Given the description of an element on the screen output the (x, y) to click on. 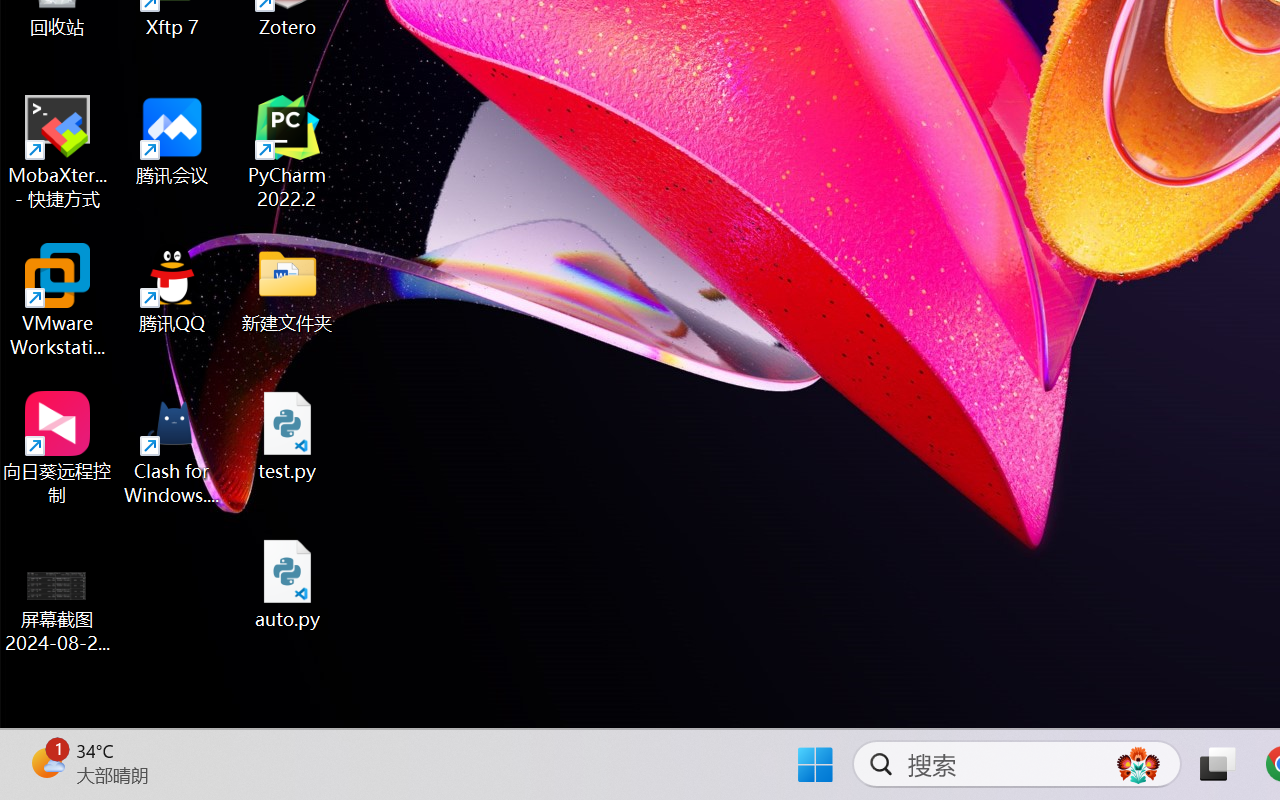
auto.py (287, 584)
test.py (287, 436)
VMware Workstation Pro (57, 300)
